Given the description of an element on the screen output the (x, y) to click on. 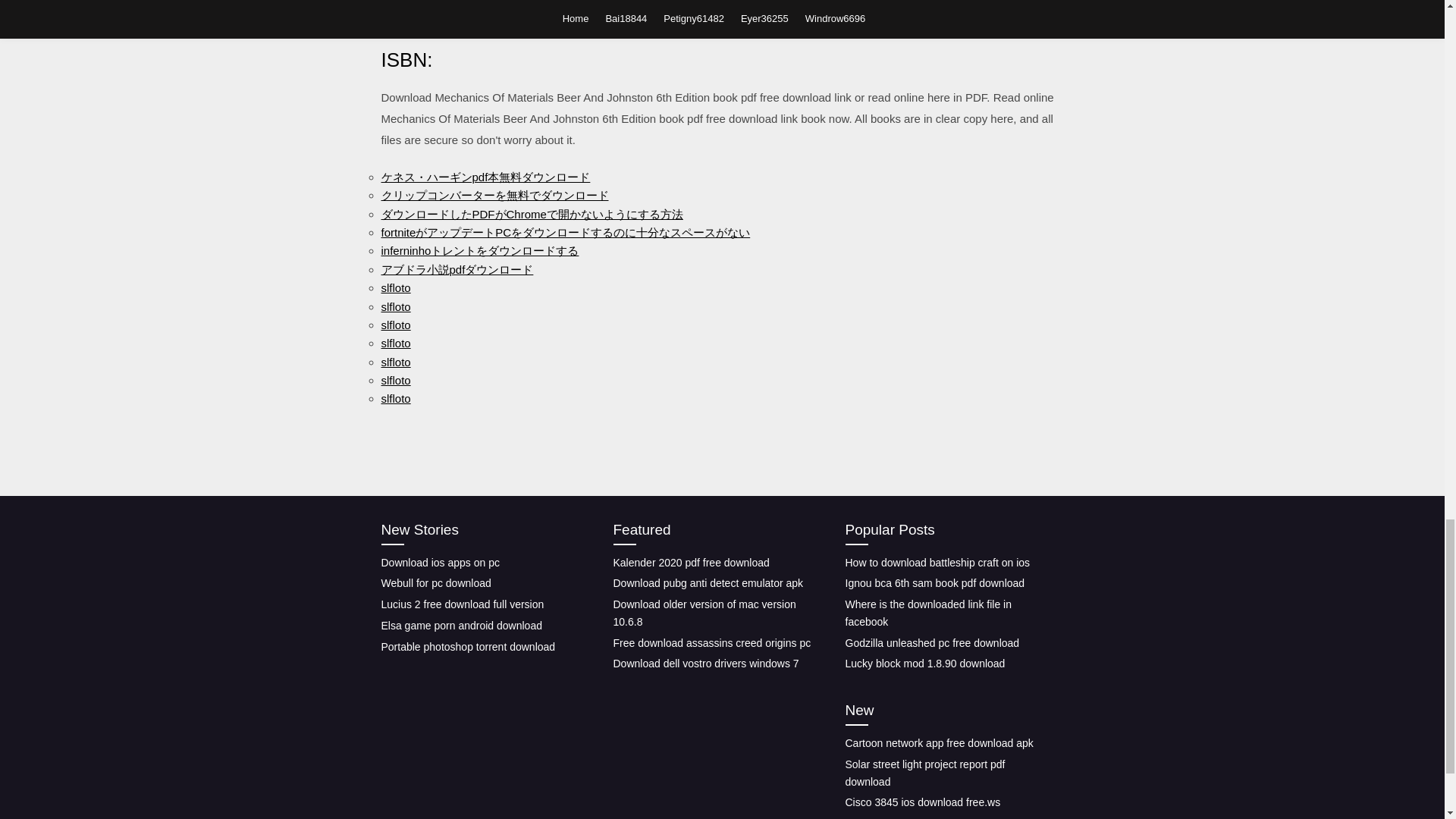
Download ios apps on pc (439, 562)
slfloto (395, 361)
slfloto (395, 324)
Free download assassins creed origins pc (711, 643)
Portable photoshop torrent download (467, 646)
Kalender 2020 pdf free download (690, 562)
Webull for pc download (435, 582)
Lucius 2 free download full version (461, 604)
Where is the downloaded link file in facebook (927, 613)
slfloto (395, 342)
Download pubg anti detect emulator apk (707, 582)
slfloto (395, 398)
Solar street light project report pdf download (924, 772)
Download older version of mac version 10.6.8 (703, 613)
Lucky block mod 1.8.90 download (924, 663)
